Given the description of an element on the screen output the (x, y) to click on. 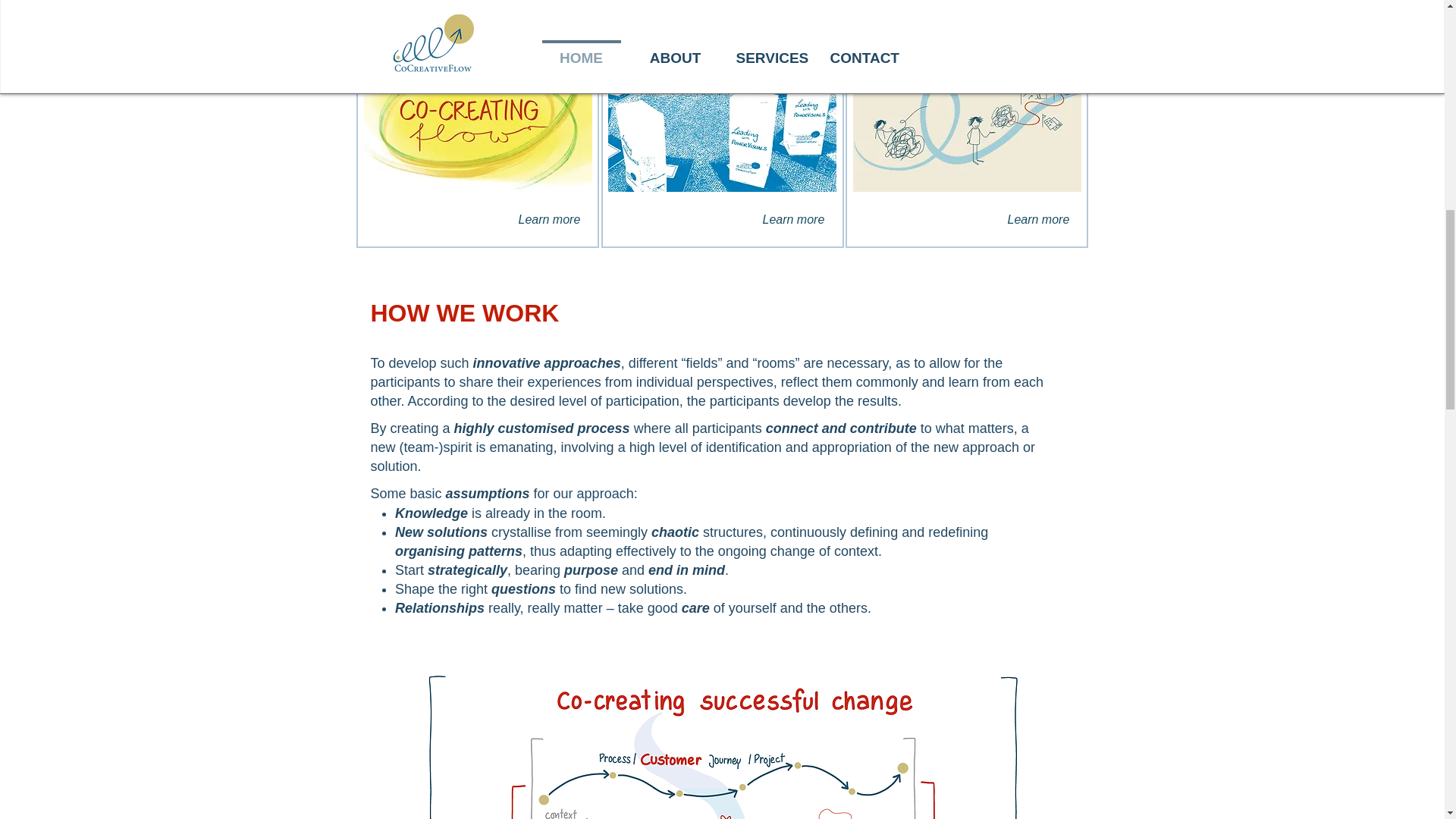
Learn more (549, 219)
Learn more (1037, 219)
24 CCF KeyVisual final.png (722, 743)
Learn more (793, 219)
